Given the description of an element on the screen output the (x, y) to click on. 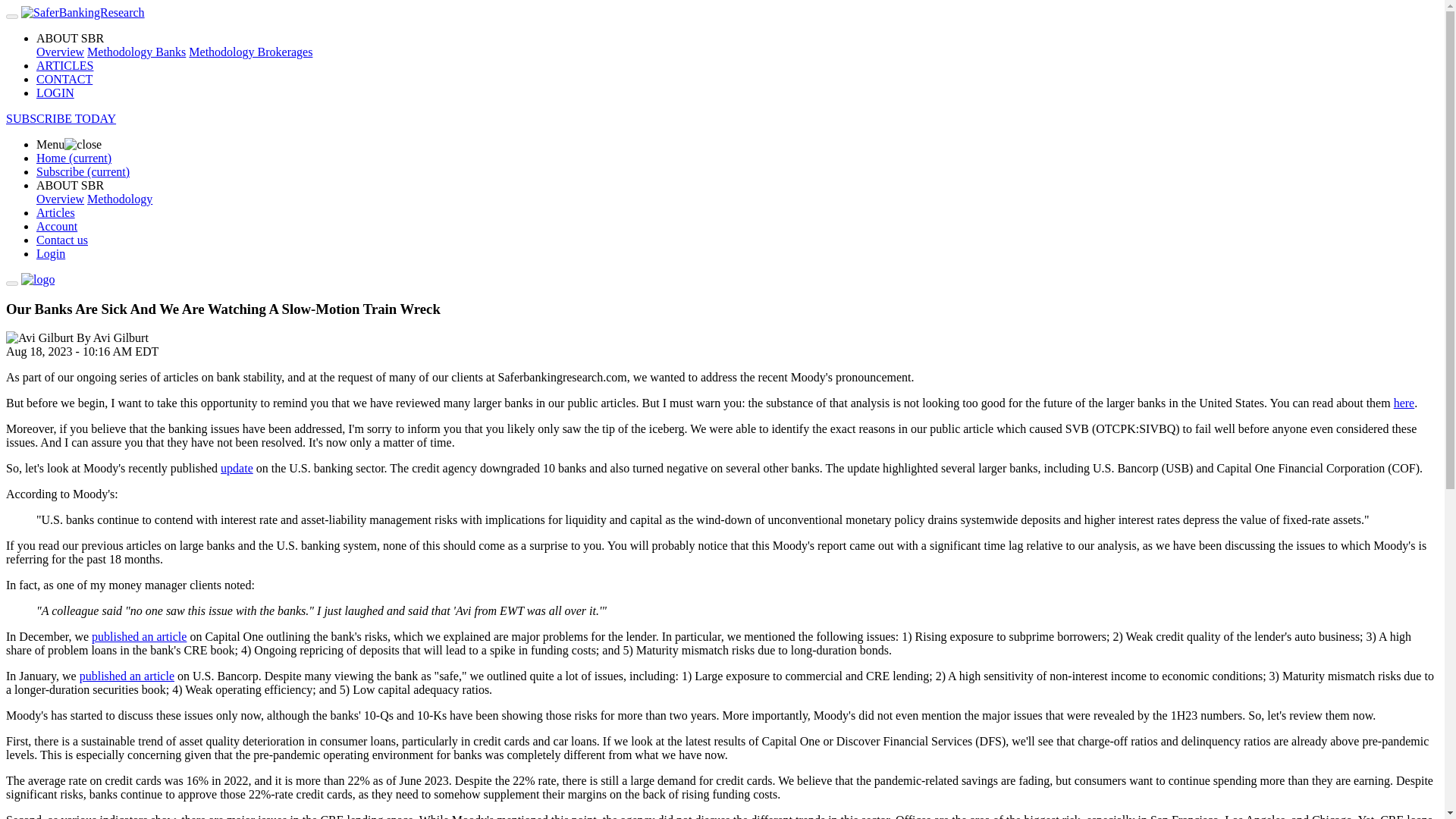
Account (56, 226)
here (1404, 402)
Articles (55, 212)
Methodology Banks (136, 51)
Overview (60, 198)
CONTACT (64, 78)
Methodology (119, 198)
Login (50, 253)
ARTICLES (64, 65)
published an article (127, 675)
Contact us (61, 239)
Methodology Brokerages (251, 51)
update (237, 468)
ABOUT SBR (69, 185)
published an article (138, 635)
